Given the description of an element on the screen output the (x, y) to click on. 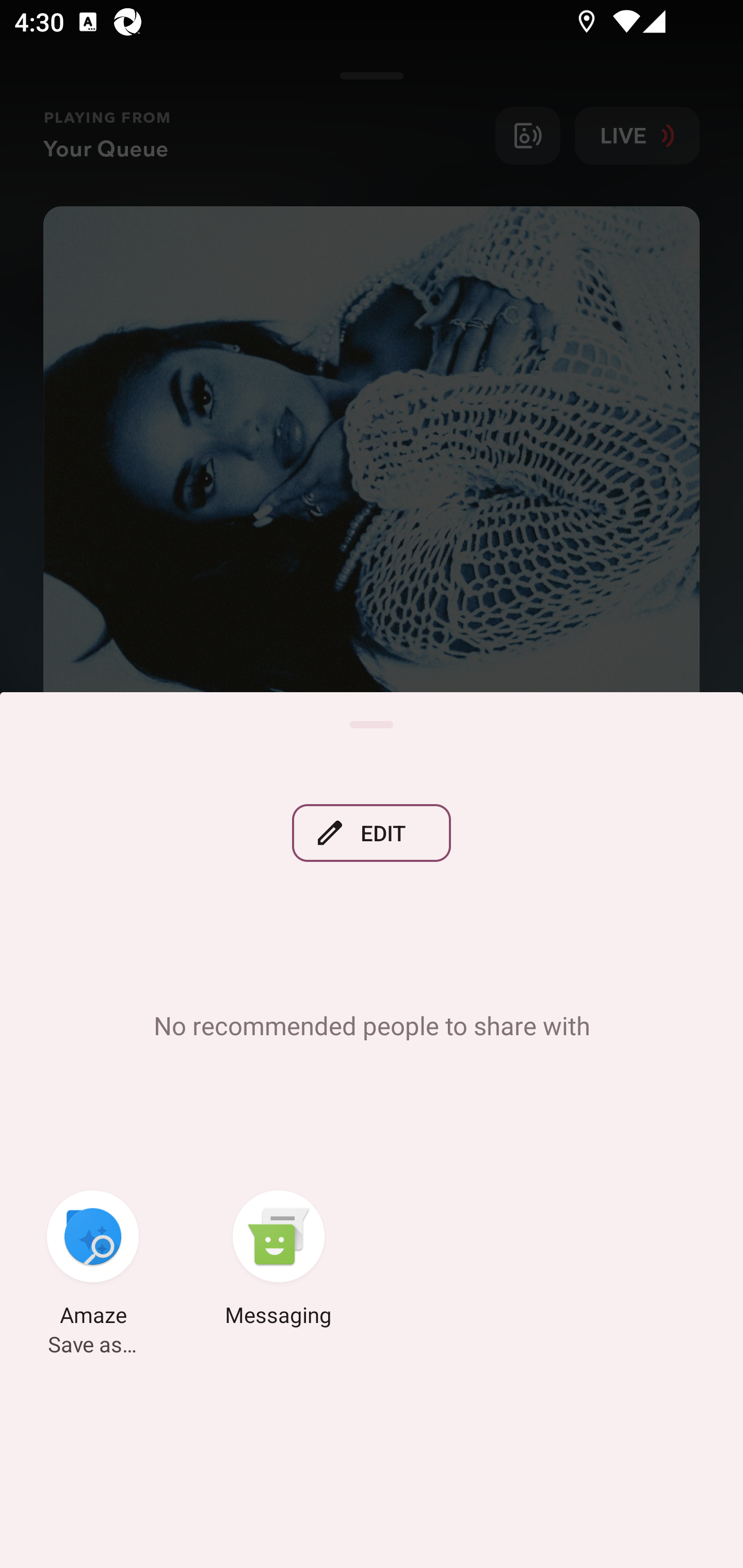
EDIT (371, 833)
Amaze Save as… (92, 1261)
Messaging (278, 1261)
